Given the description of an element on the screen output the (x, y) to click on. 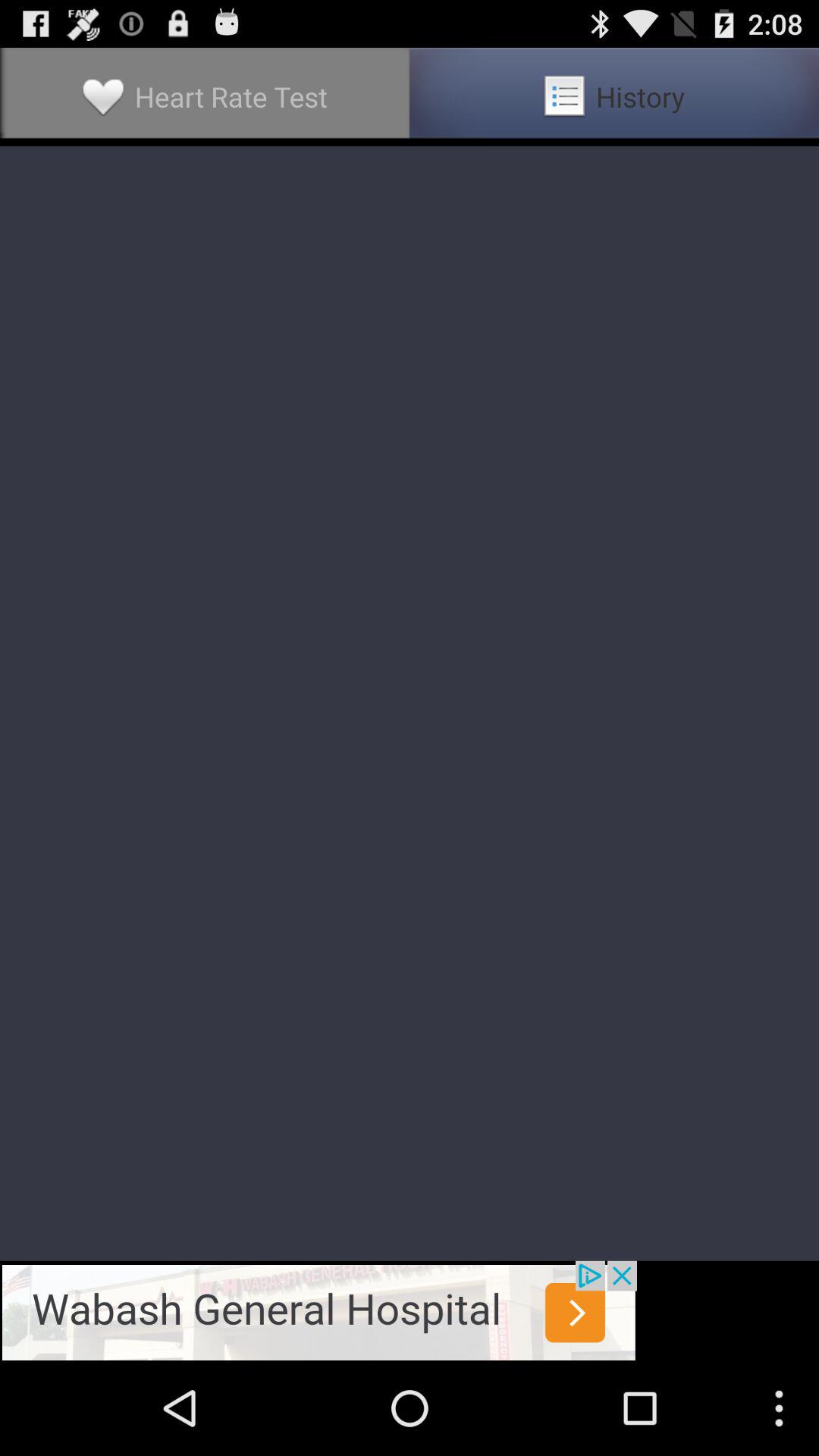
its an advertisement (318, 1310)
